Given the description of an element on the screen output the (x, y) to click on. 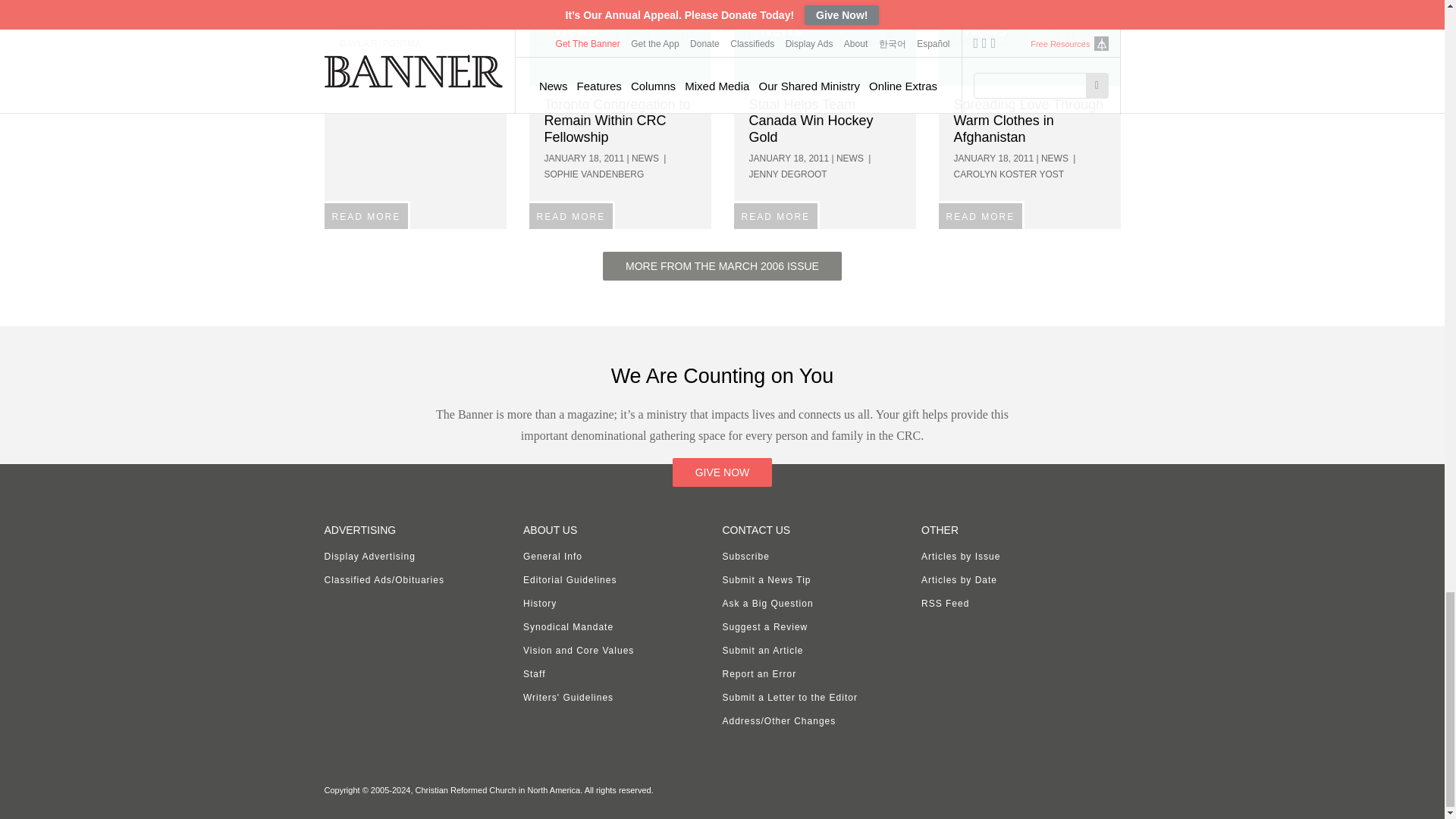
News (620, 42)
News (824, 42)
News (1030, 42)
